Given the description of an element on the screen output the (x, y) to click on. 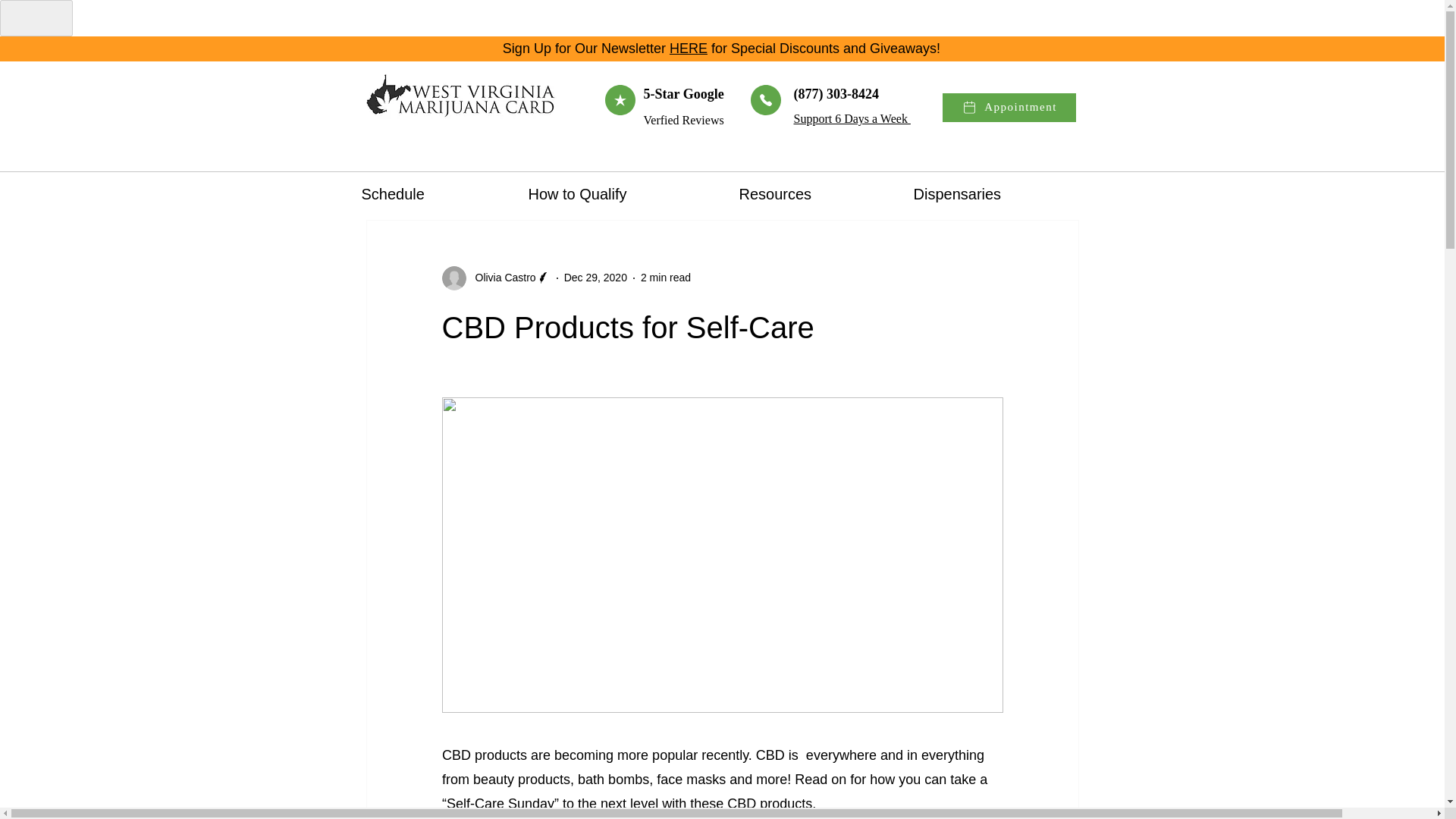
Schedule (433, 193)
2 min read (665, 277)
Dec 29, 2020 (595, 277)
Support 6 Days a Week  (851, 118)
Appointment (1009, 107)
for Special Discounts and Giveaways! (825, 48)
HERE (688, 48)
Olivia Castro (500, 277)
5-Star Google (683, 93)
Verfied Reviews (683, 119)
